Given the description of an element on the screen output the (x, y) to click on. 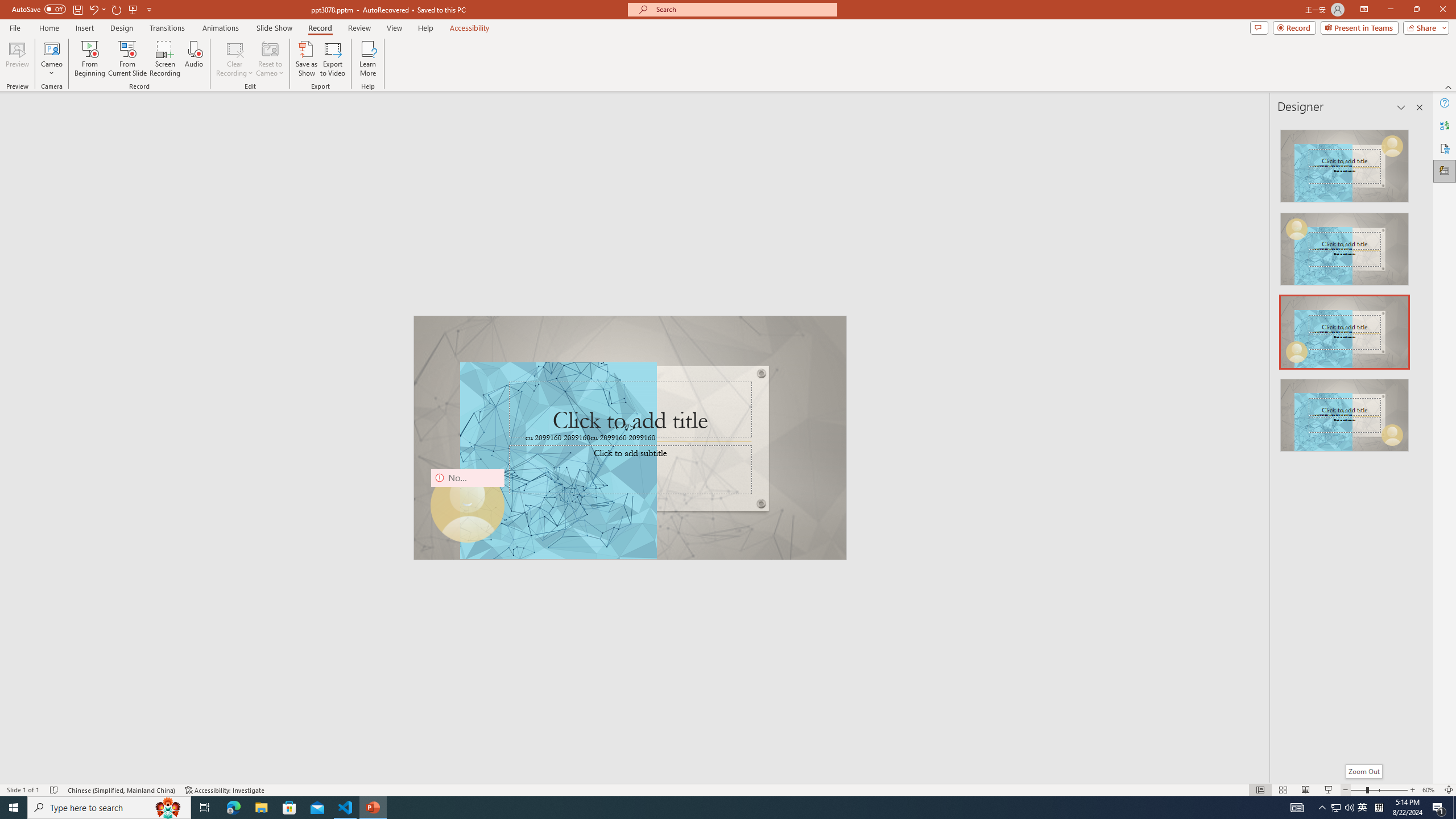
Comments (1259, 27)
Quick Access Toolbar (82, 9)
Slide Sorter (1282, 790)
Zoom to Fit  (1449, 790)
AutoSave (38, 9)
Animations (220, 28)
Preview (17, 58)
Zoom 60% (1430, 790)
More Options (51, 68)
Clear Recording (234, 58)
Recommended Design: Design Idea (1344, 162)
Design Idea (1344, 411)
Translator (1444, 125)
